Given the description of an element on the screen output the (x, y) to click on. 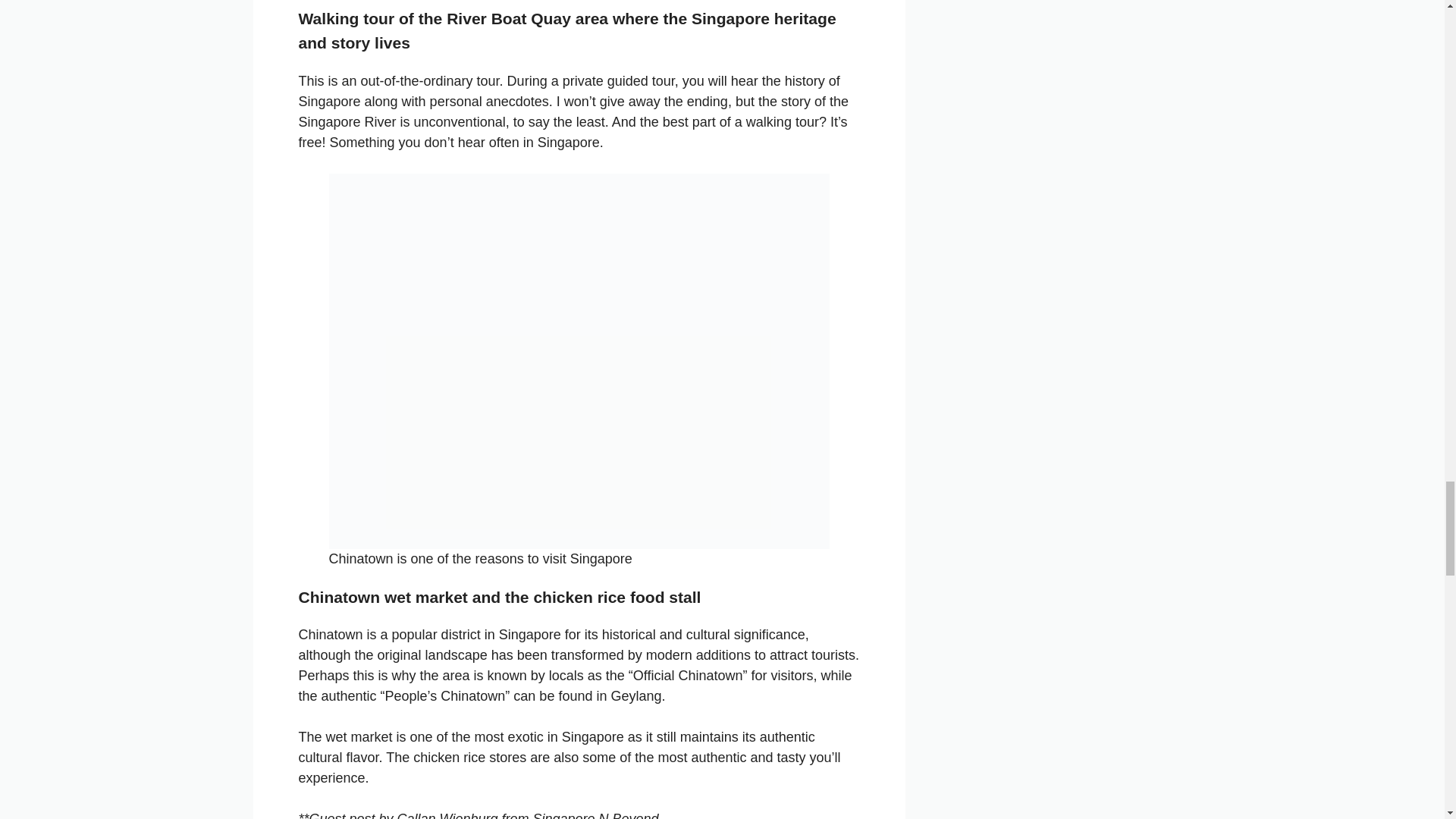
Chinatown (330, 634)
Singapore N Beyond (595, 815)
